Given the description of an element on the screen output the (x, y) to click on. 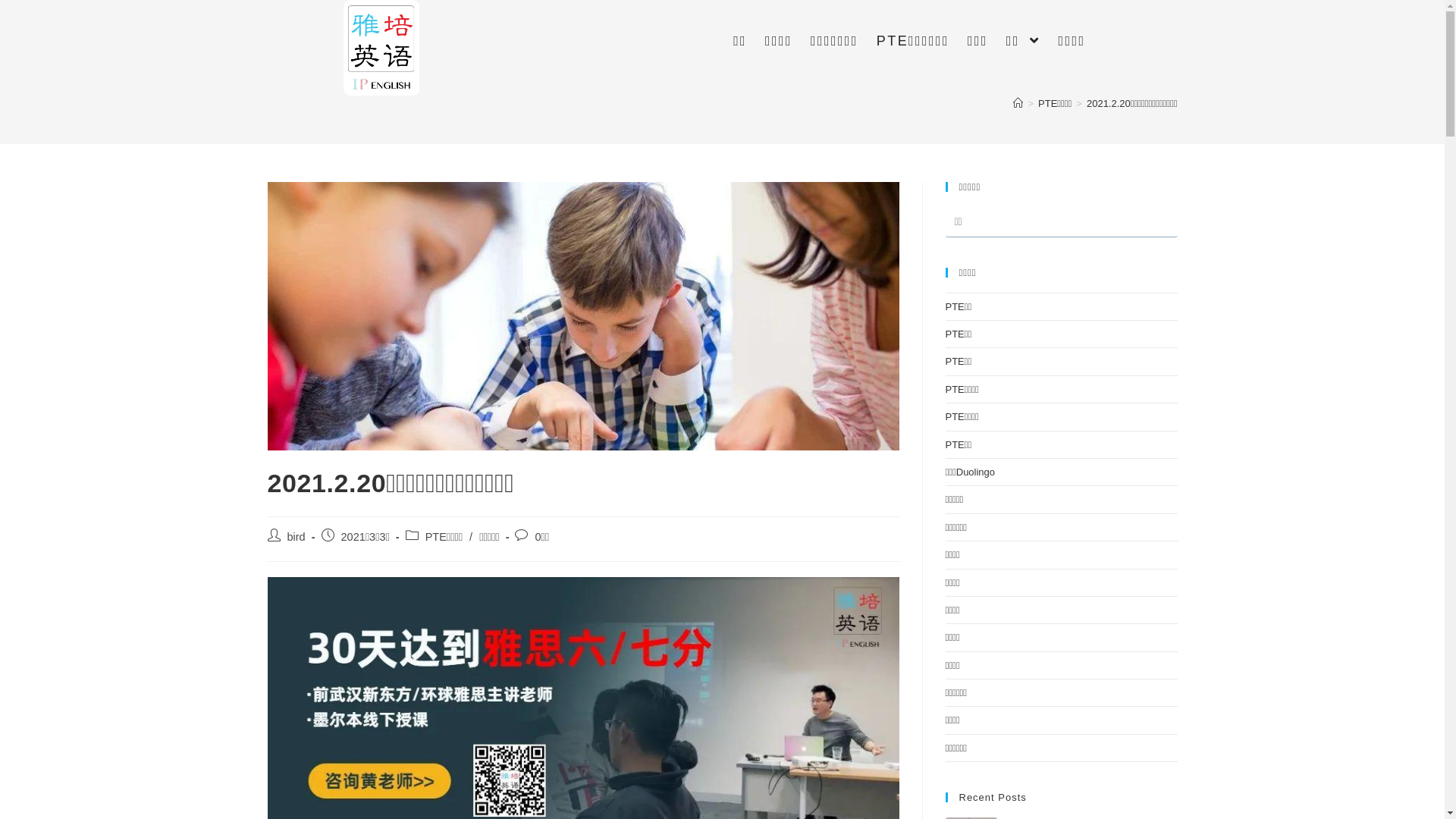
bird Element type: text (295, 536)
